Given the description of an element on the screen output the (x, y) to click on. 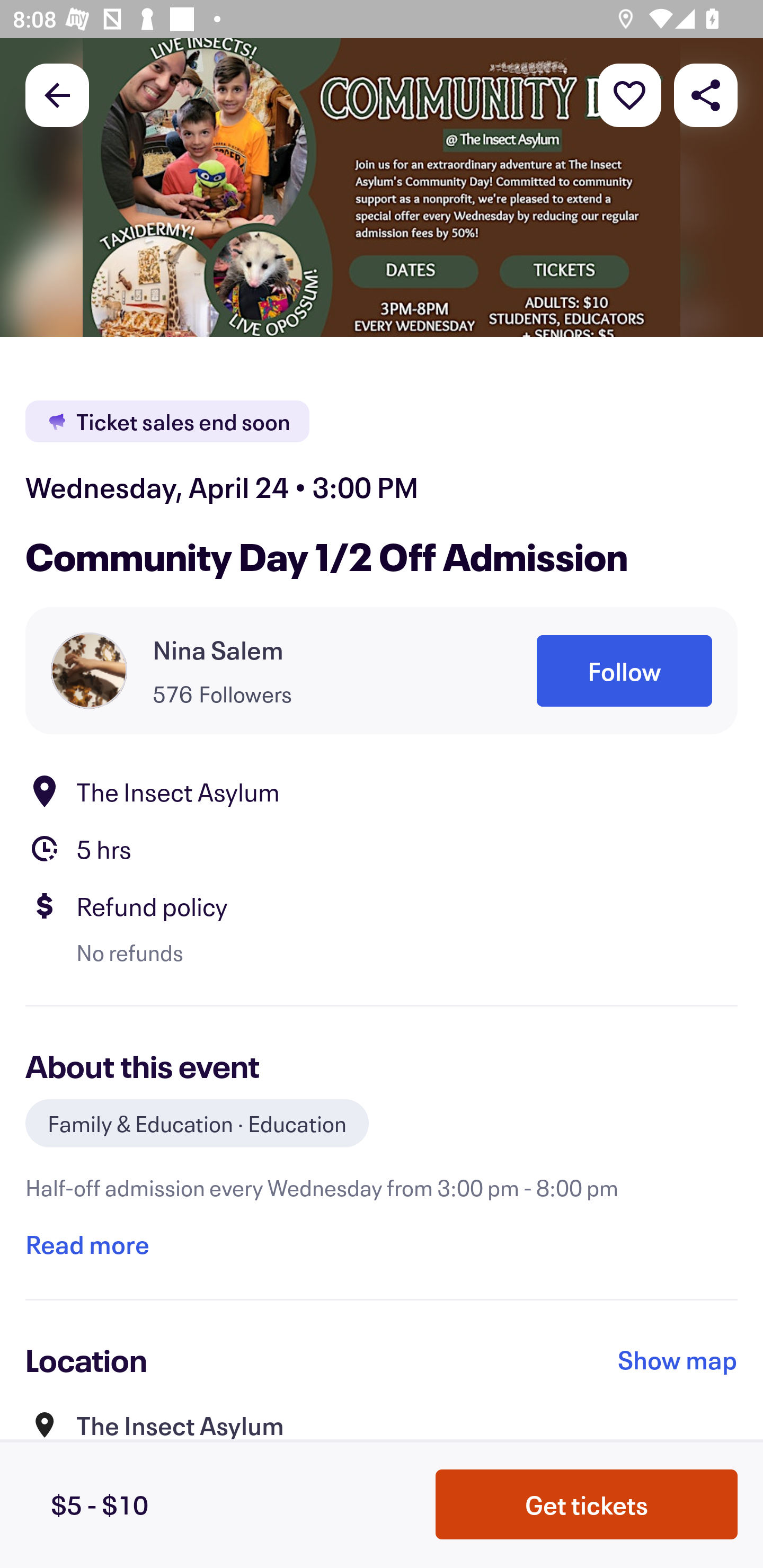
Back (57, 94)
More (629, 94)
Share (705, 94)
Nina Salem (217, 649)
Organizer profile picture (89, 669)
Follow (623, 670)
Location The Insect Asylum (381, 790)
Read more (87, 1243)
Show map (677, 1359)
Get tickets (586, 1504)
